Given the description of an element on the screen output the (x, y) to click on. 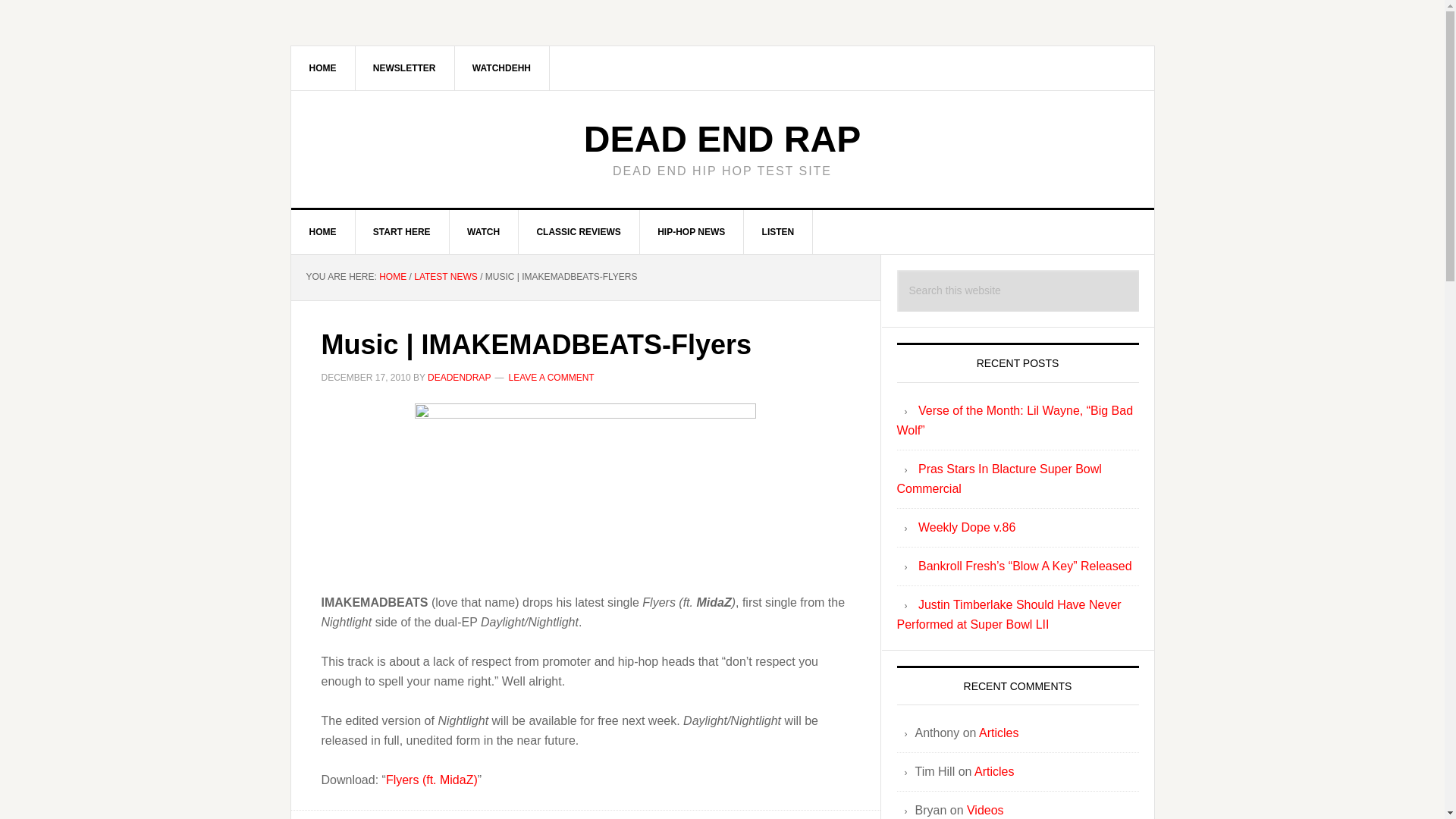
HOME (392, 276)
Weekly Dope v.86 (966, 526)
NEWSLETTER (404, 67)
DEAD END RAP (721, 138)
WATCH (483, 231)
DEADENDRAP (459, 376)
HOME (323, 231)
WATCHDEHH (502, 67)
CLASSIC REVIEWS (578, 231)
HOME (323, 67)
LISTEN (778, 231)
HIP-HOP NEWS (691, 231)
IMMB.Daylight.Nightlight.over (584, 488)
